Given the description of an element on the screen output the (x, y) to click on. 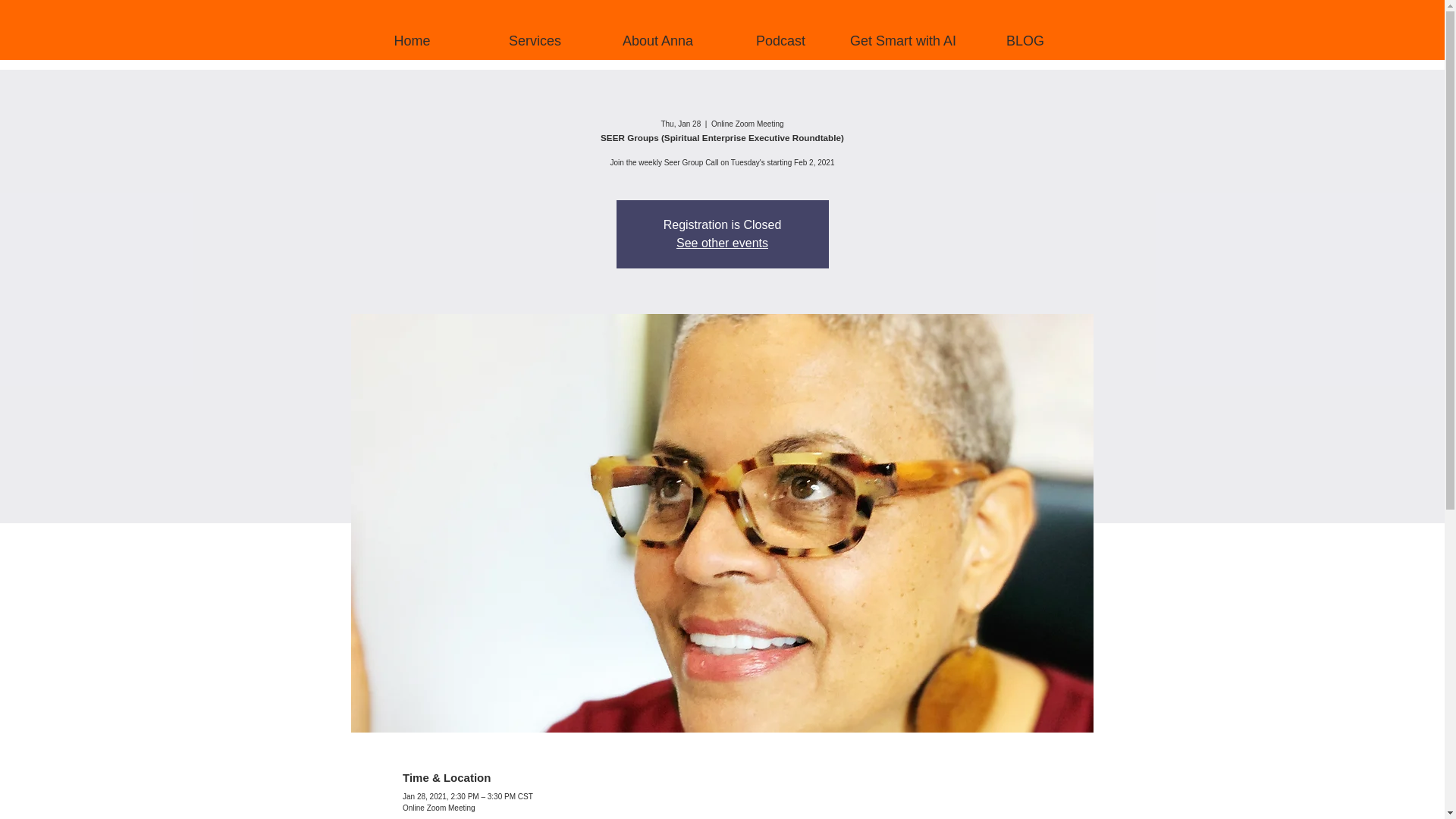
Get Smart with AI (902, 40)
Services (534, 40)
Podcast (780, 40)
About Anna (657, 40)
Home (411, 40)
See other events (722, 242)
BLOG (1024, 40)
